Given the description of an element on the screen output the (x, y) to click on. 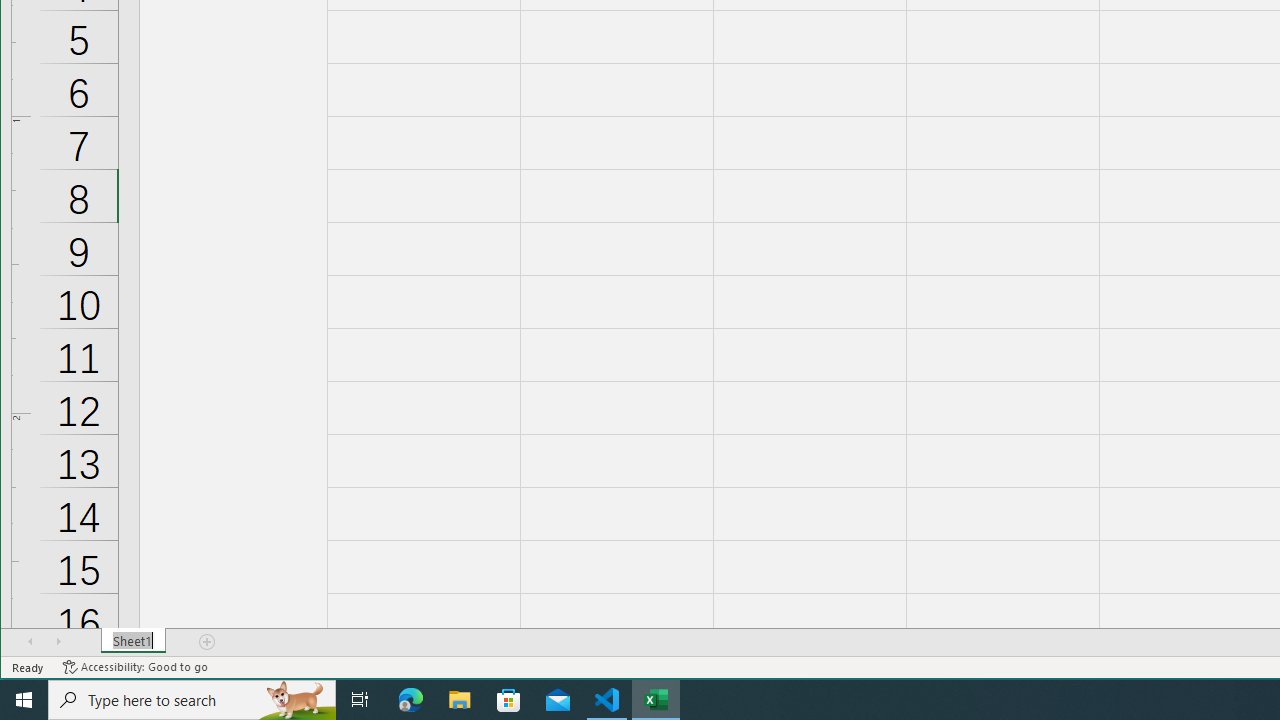
File Explorer (460, 699)
